Given the description of an element on the screen output the (x, y) to click on. 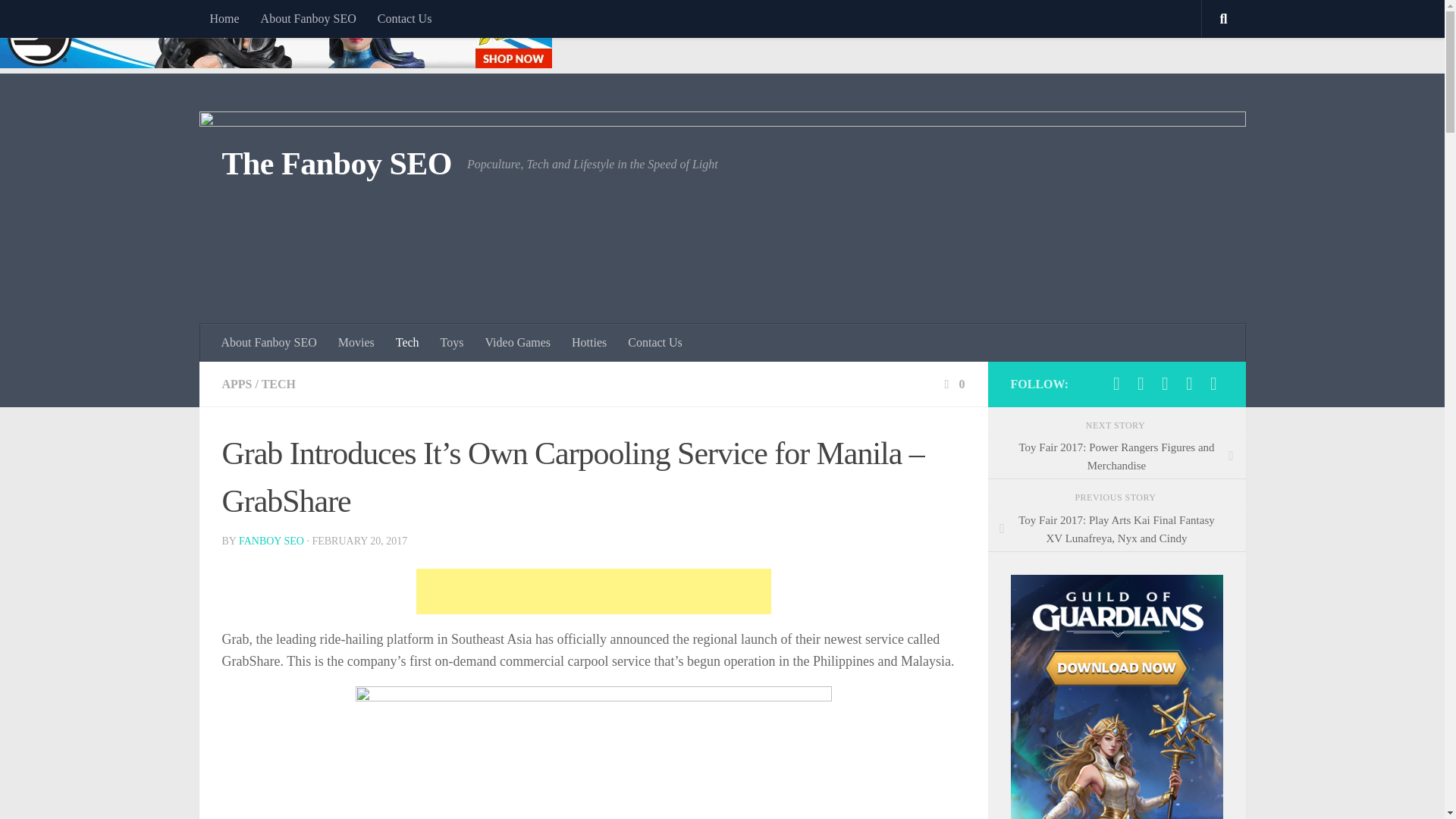
Contact Us (655, 342)
Contact Us (404, 18)
The Fanboy SEO (336, 164)
FANBOY SEO (271, 541)
TECH (278, 383)
Advertisement (592, 591)
Posts by Fanboy SEO (271, 541)
Tech (407, 342)
Hotties (588, 342)
Movies (356, 342)
Skip to content (59, 20)
Toys (451, 342)
Video Games (517, 342)
About Fanboy SEO (269, 342)
About Fanboy SEO (308, 18)
